Given the description of an element on the screen output the (x, y) to click on. 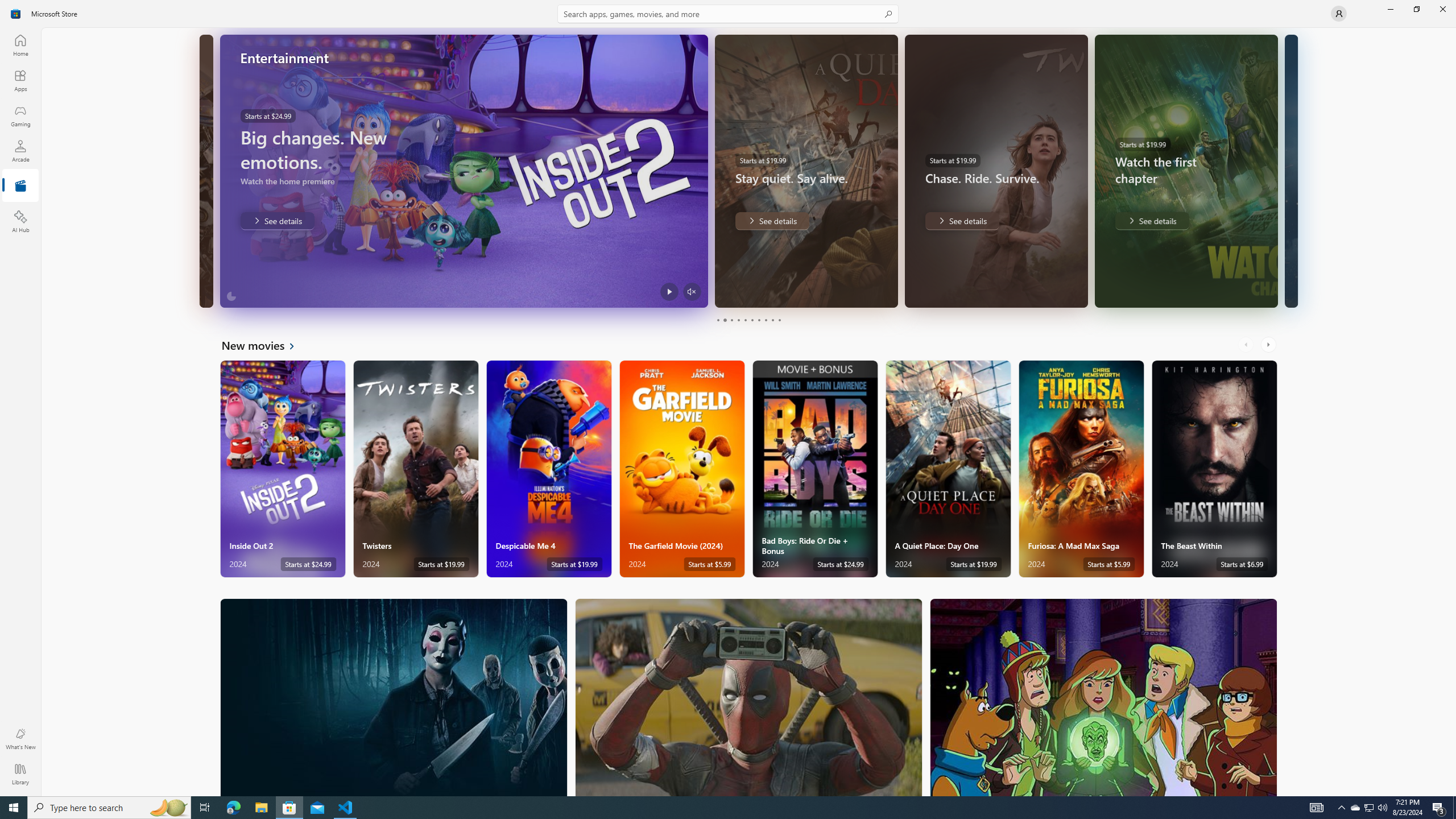
See all  New movies (264, 345)
Bad Boys: Ride Or Die + Bonus. Starts at $24.99   (814, 469)
Search (727, 13)
Page 2 (724, 319)
The Garfield Movie (2024). Starts at $5.99   (681, 469)
Page 6 (751, 319)
Page 3 (731, 319)
